Given the description of an element on the screen output the (x, y) to click on. 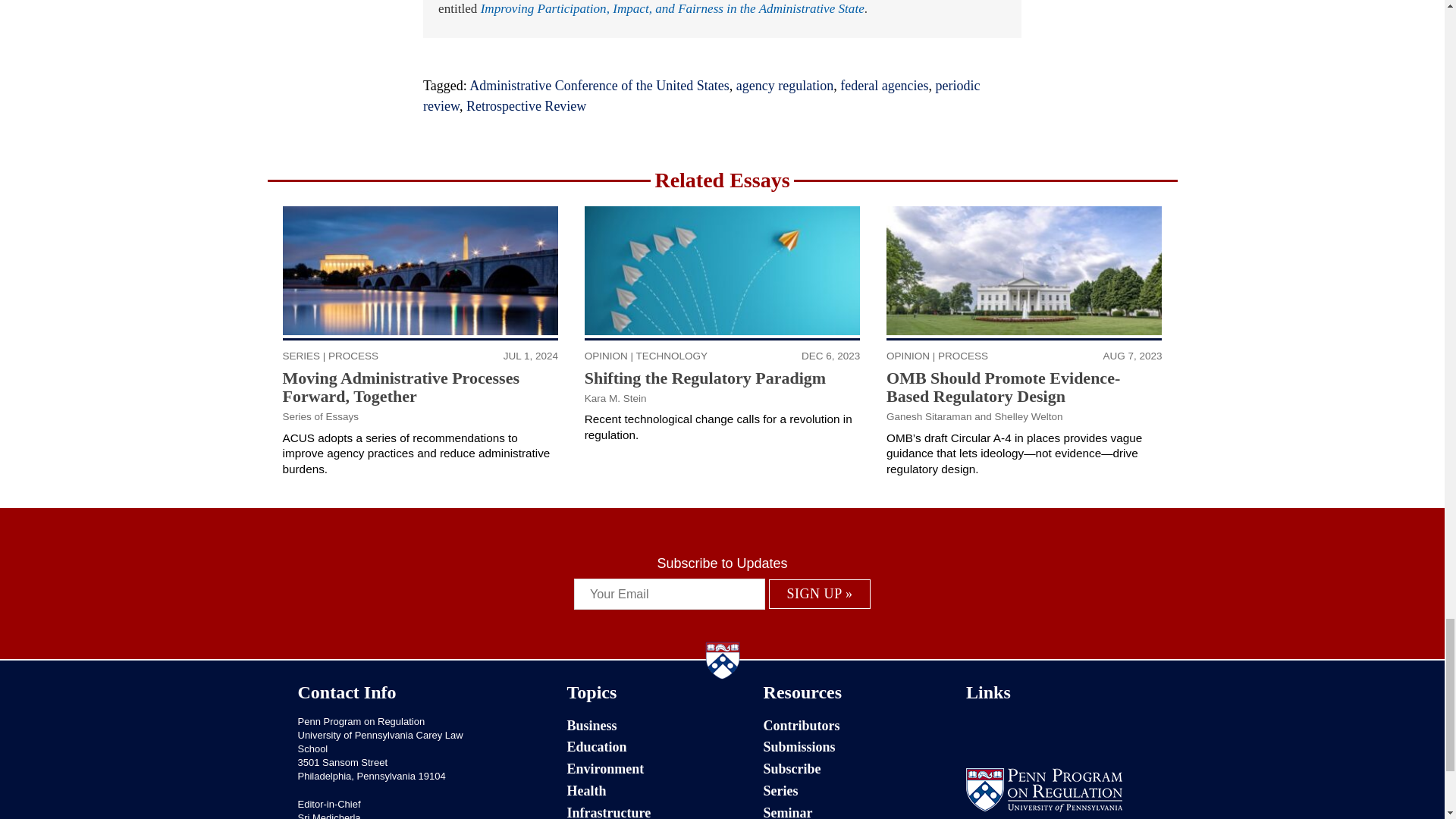
Posts by Kara M. Stein (615, 398)
Posts by Series of Essays (320, 416)
Posts by Ganesh Sitaraman (929, 416)
Posts by Shelley Welton (1028, 416)
